Given the description of an element on the screen output the (x, y) to click on. 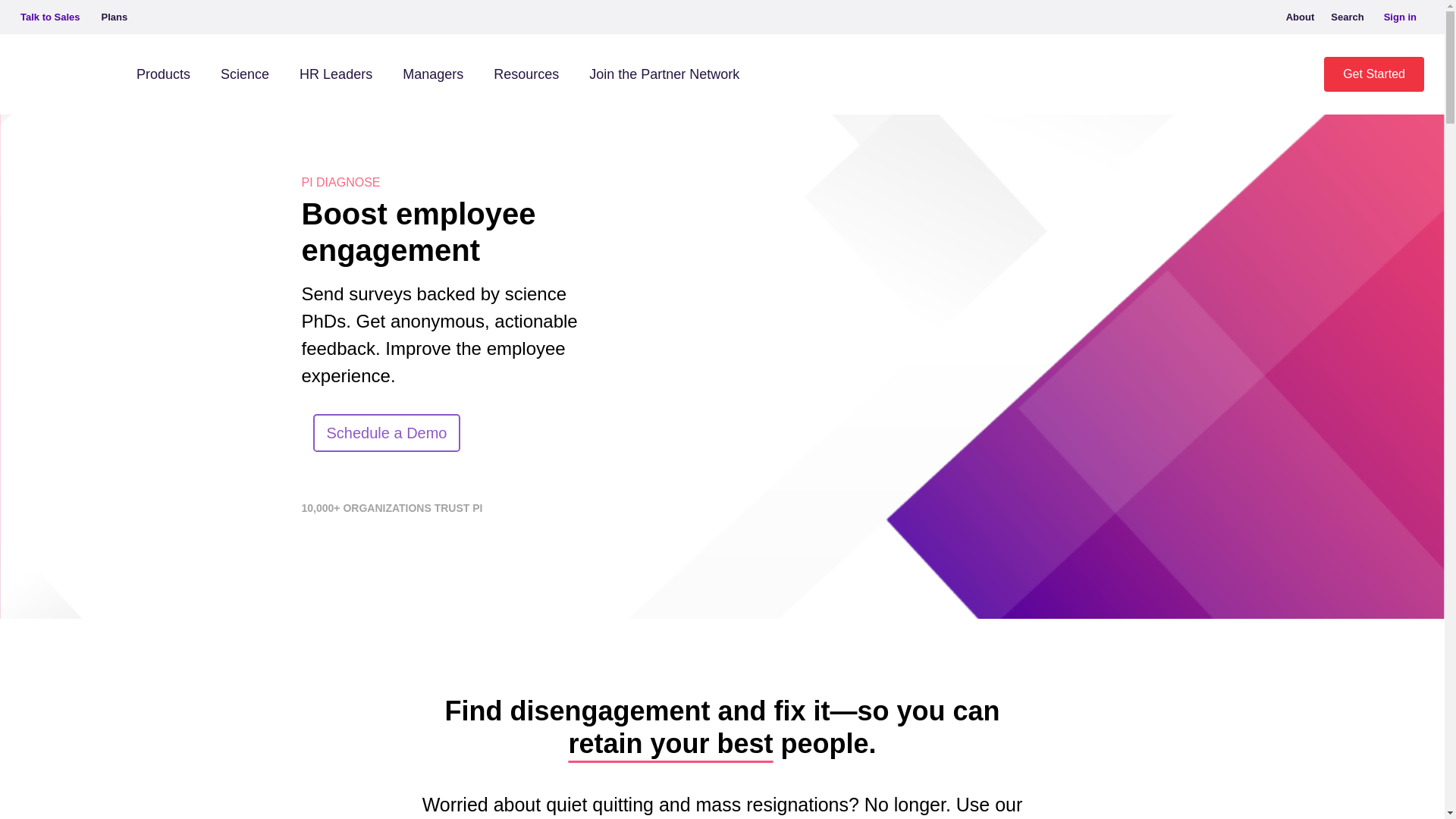
About (1300, 17)
Search (1348, 17)
Products (162, 74)
Plans (114, 17)
Science (244, 74)
Talk to Sales (52, 17)
Sign in (1399, 17)
HR Leaders (335, 74)
